Given the description of an element on the screen output the (x, y) to click on. 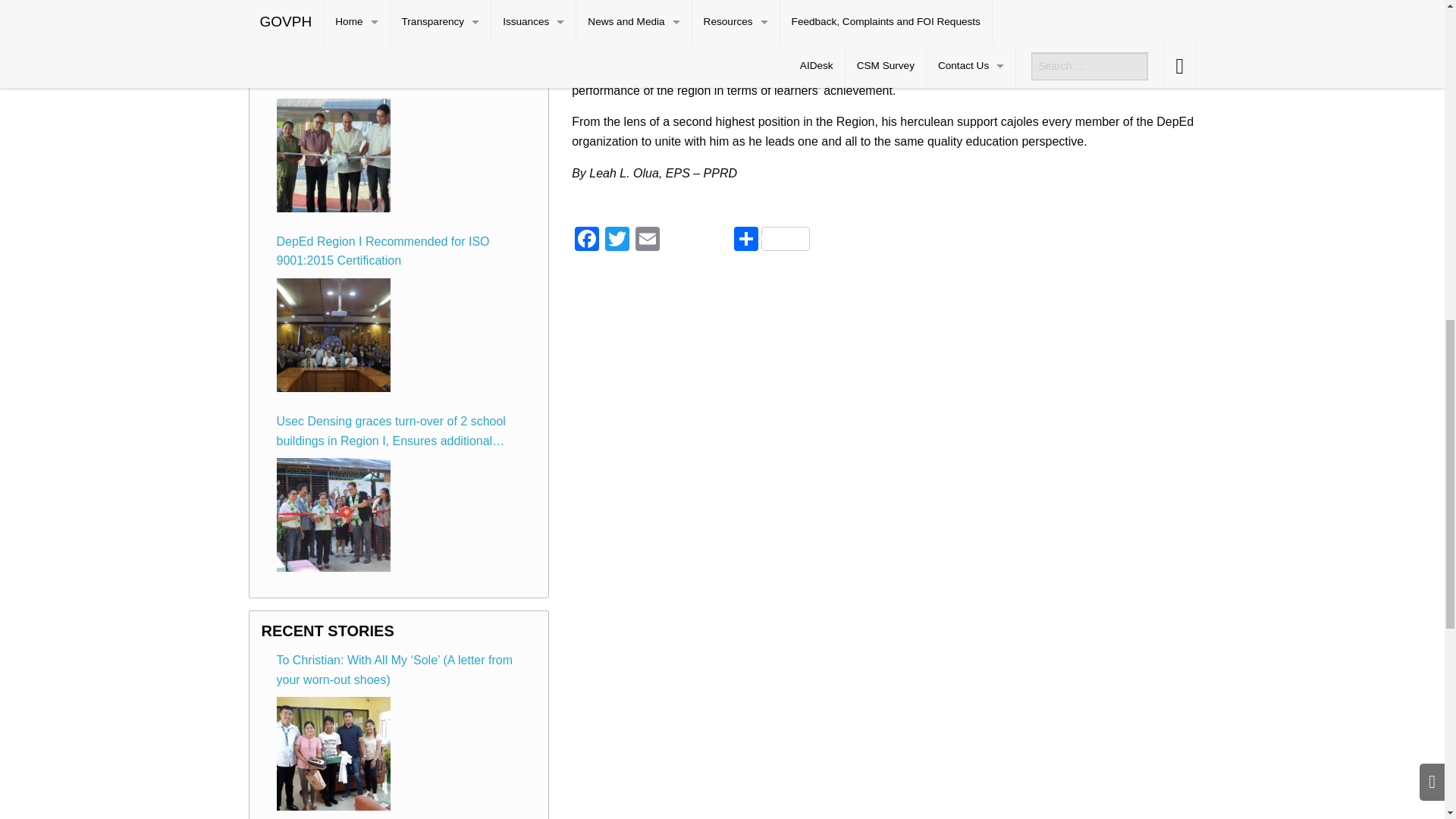
Facebook (587, 240)
Email (646, 240)
DepEd ROI capacitates SDOs on Quality Management System (333, 16)
DepEd Region I Recommended for ISO 9001:2015 Certification (333, 335)
Twitter (616, 240)
